Given the description of an element on the screen output the (x, y) to click on. 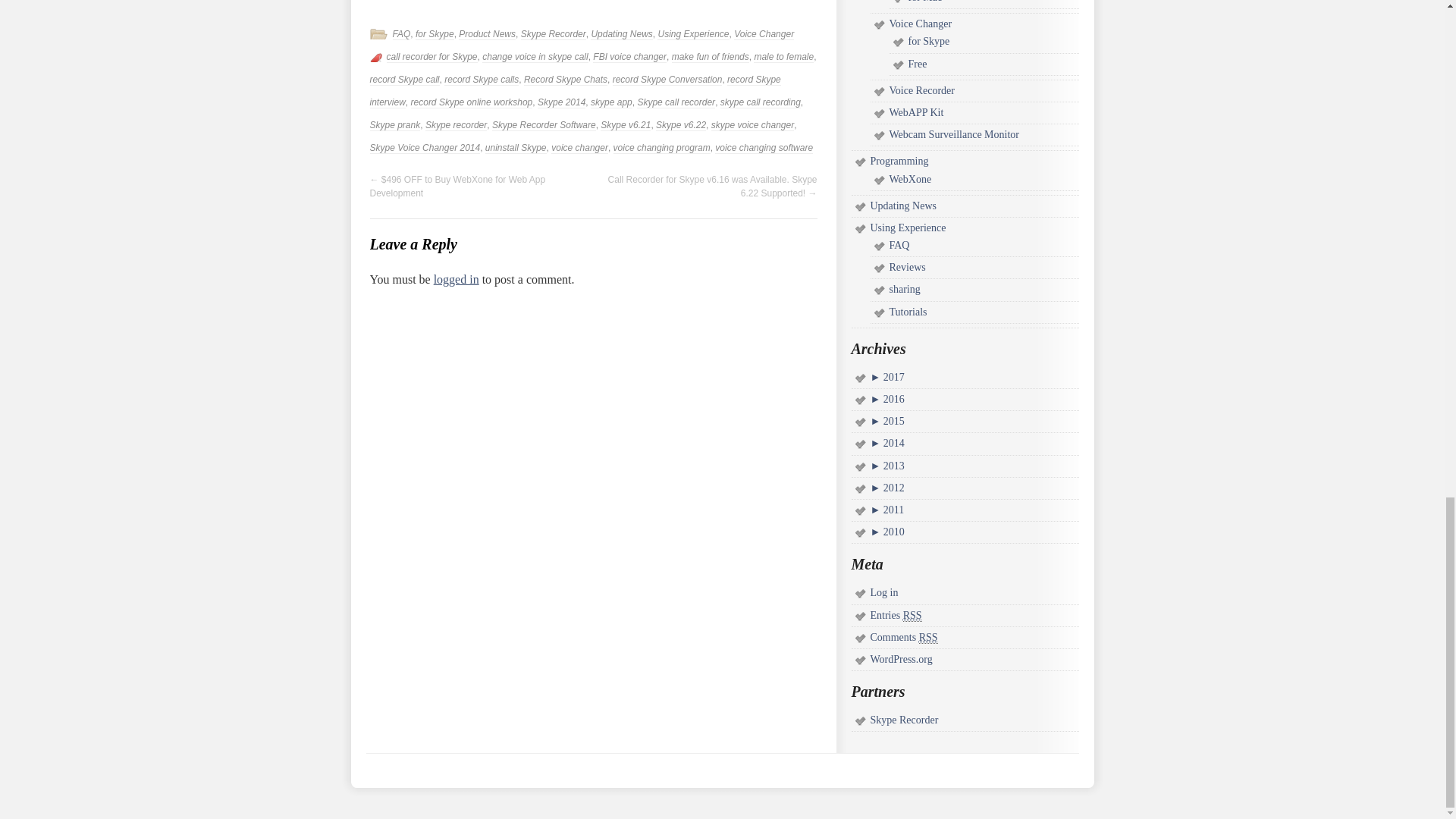
record Skype calls (481, 79)
make fun of friends (710, 57)
FBI voice changer (629, 57)
call recorder for Skype (432, 57)
Voice Changer (763, 34)
change voice in skype call (534, 57)
record Skype call (404, 79)
record Skype interview (574, 91)
Skype 2014 (561, 102)
record Skype online workshop (471, 102)
